Given the description of an element on the screen output the (x, y) to click on. 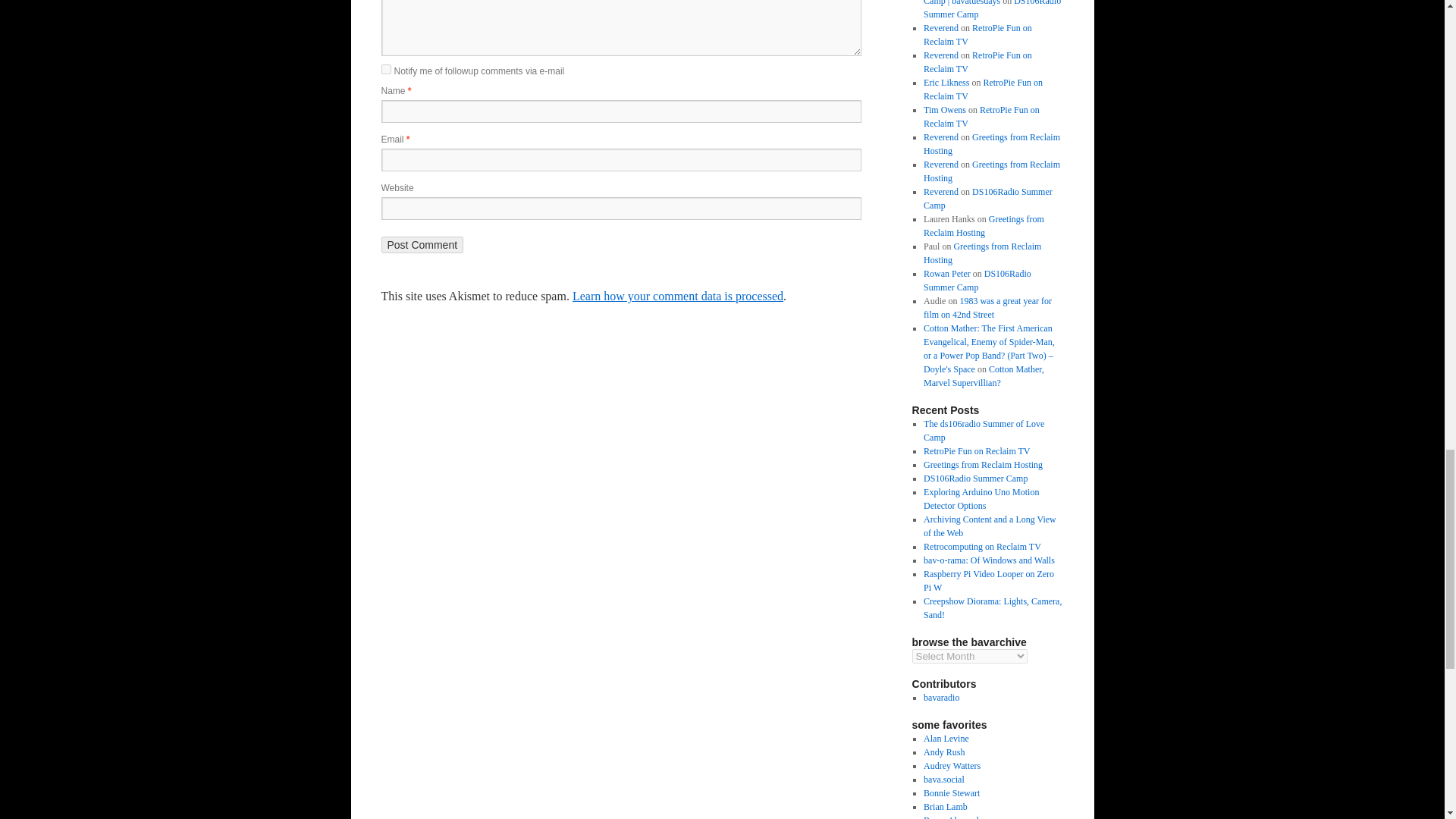
bava on the radio (941, 697)
Post Comment (421, 244)
subscribe (385, 69)
